Given the description of an element on the screen output the (x, y) to click on. 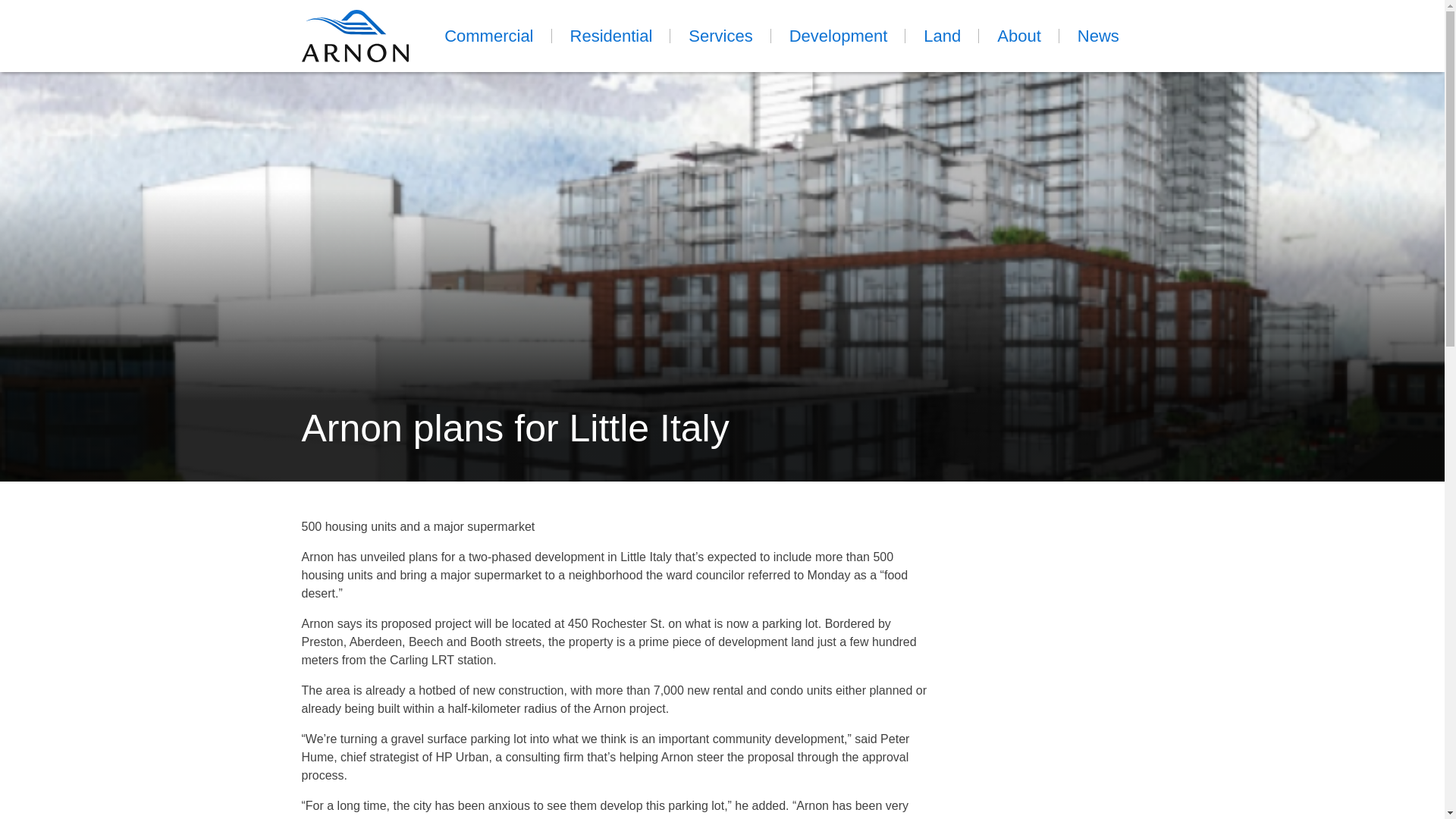
Development Element type: text (838, 35)
Services Element type: text (720, 35)
News Element type: text (1098, 35)
Commercial Element type: text (488, 35)
Land Element type: text (942, 35)
About Element type: text (1019, 35)
Residential Element type: text (611, 35)
